Given the description of an element on the screen output the (x, y) to click on. 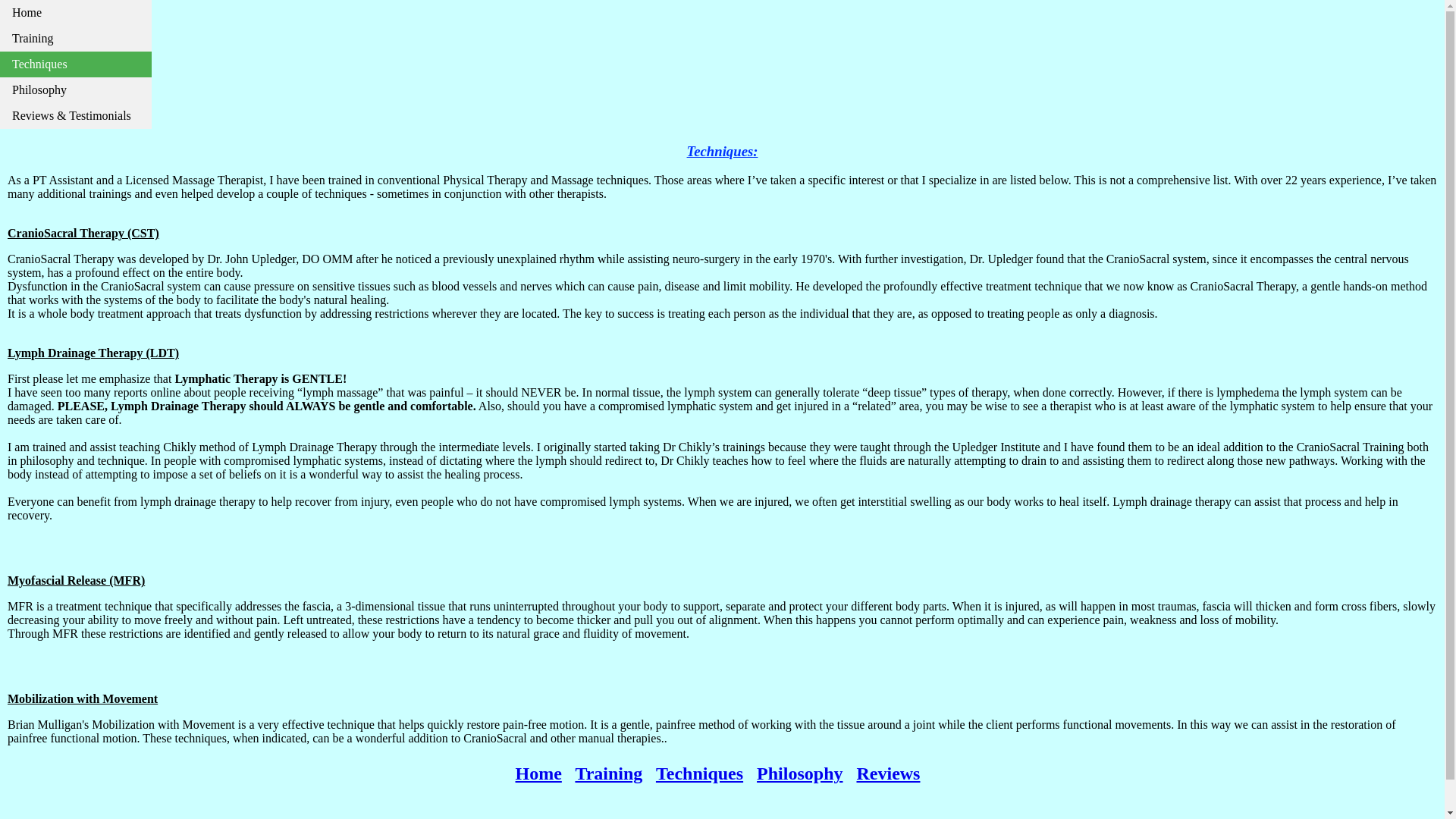
Home (75, 12)
Training (608, 772)
Techniques (75, 63)
Philosophy (75, 89)
Home (538, 772)
Training (75, 38)
Philosophy (800, 772)
Reviews (888, 772)
Techniques (699, 772)
